Given the description of an element on the screen output the (x, y) to click on. 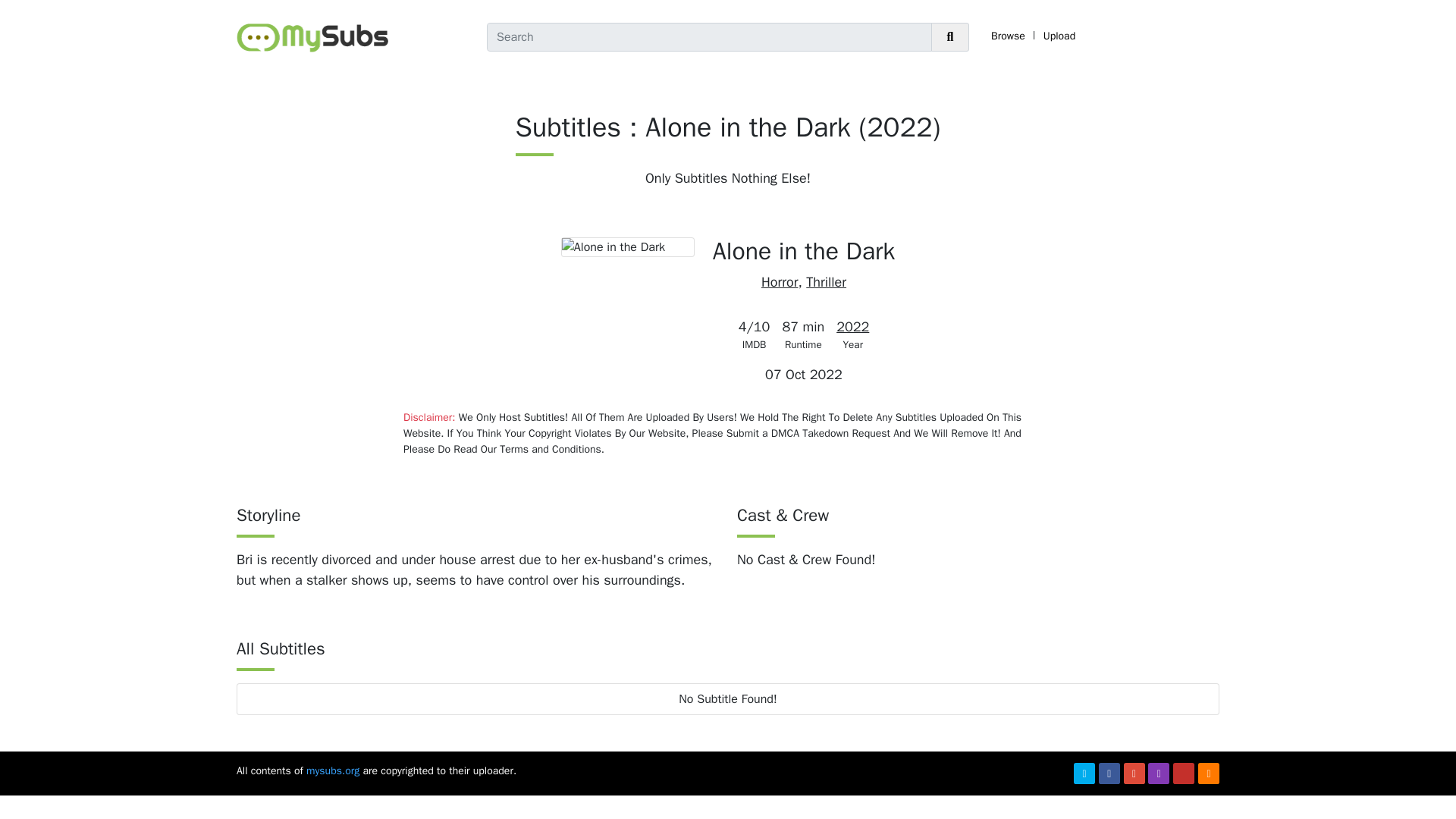
Upload (1059, 35)
Horror (779, 281)
mysubs.org (332, 770)
2022 (852, 326)
Browse (1008, 35)
Thriller (825, 281)
